Given the description of an element on the screen output the (x, y) to click on. 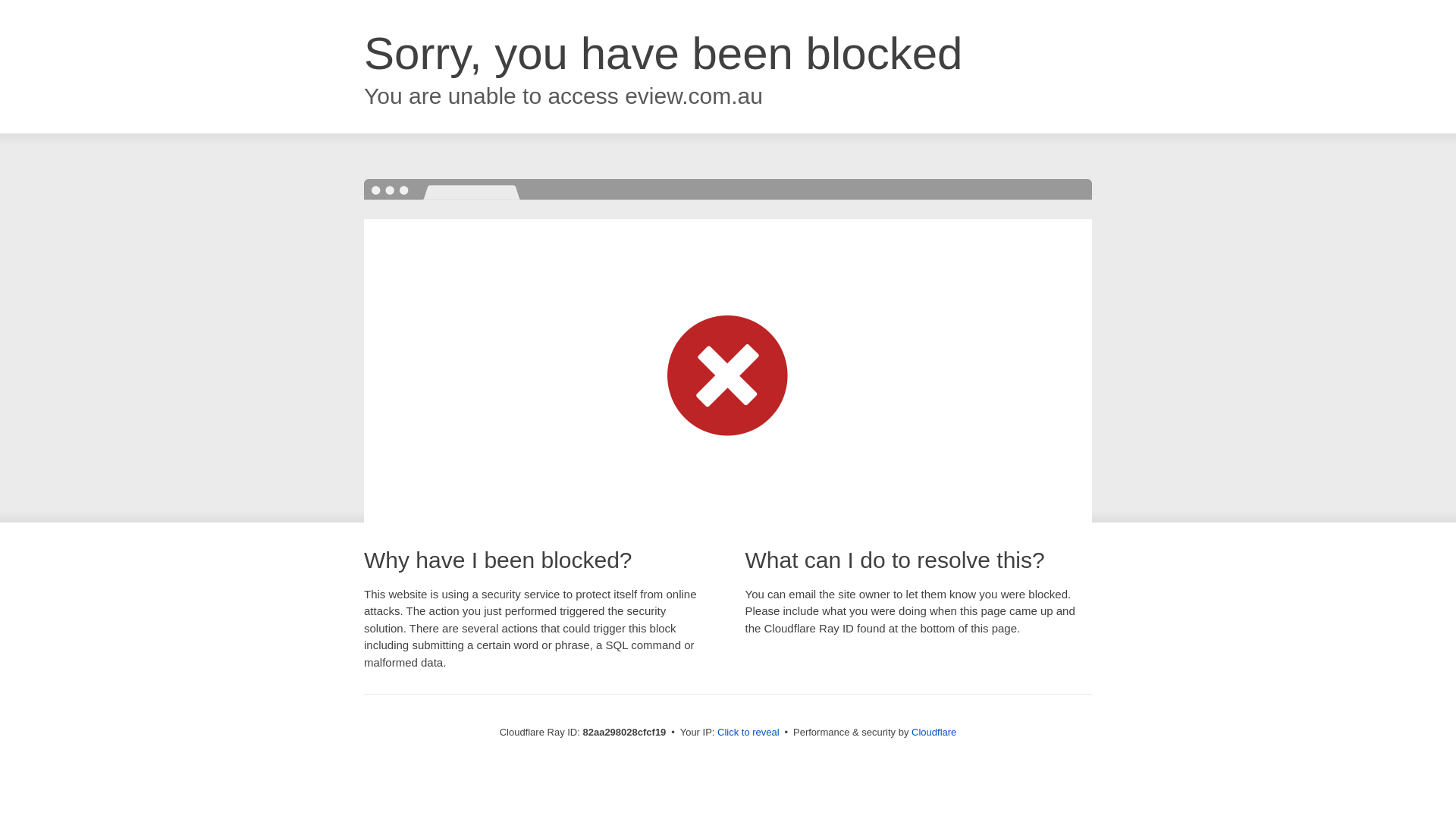
Cloudflare Element type: text (933, 731)
Click to reveal Element type: text (748, 732)
